Given the description of an element on the screen output the (x, y) to click on. 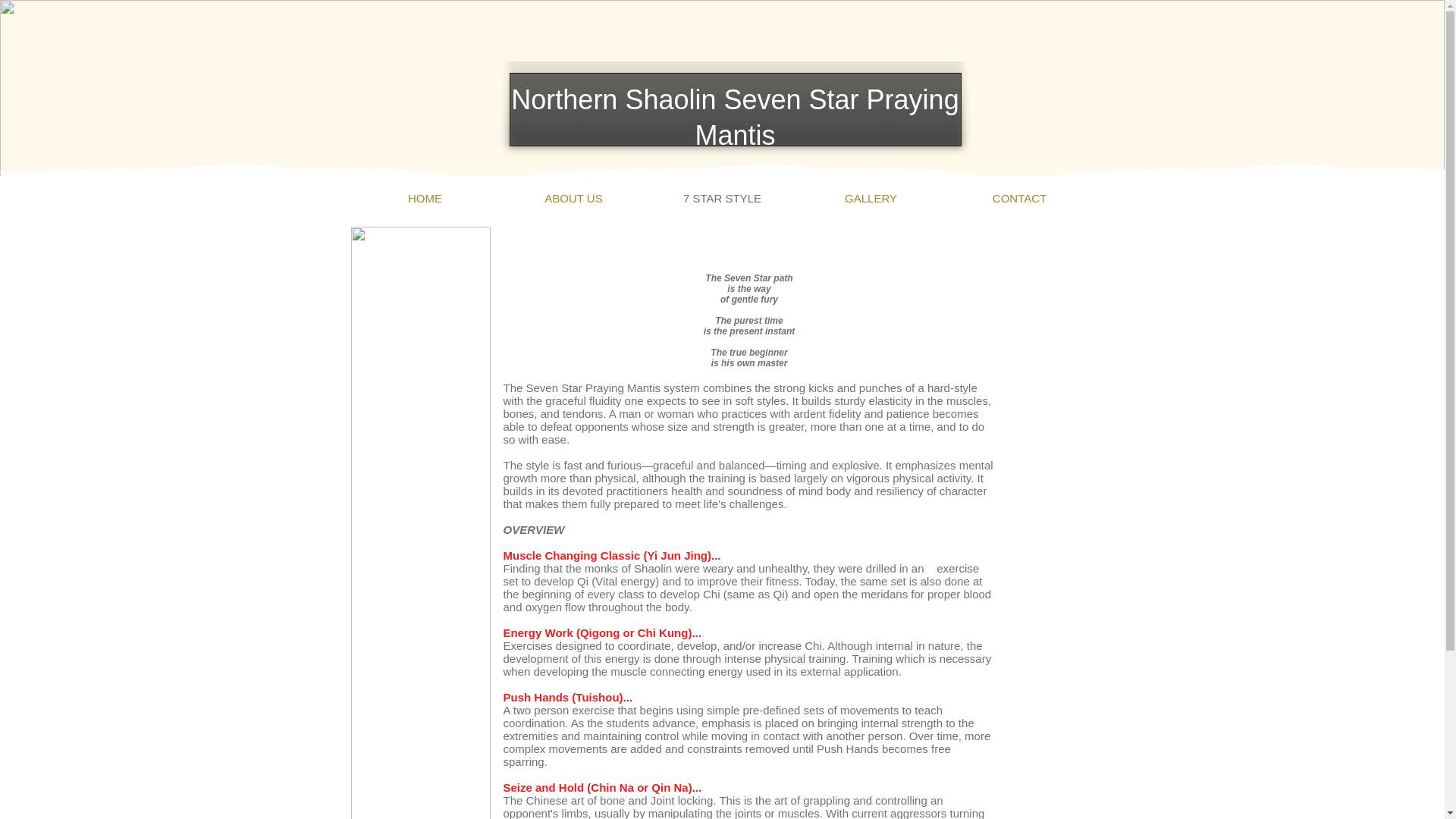
GALLERY (870, 197)
ABOUT US (573, 197)
CONTACT (1018, 197)
HOME (424, 197)
Northern Shaolin Seven Star Praying Mantis (734, 117)
7 STAR STYLE (721, 197)
